Given the description of an element on the screen output the (x, y) to click on. 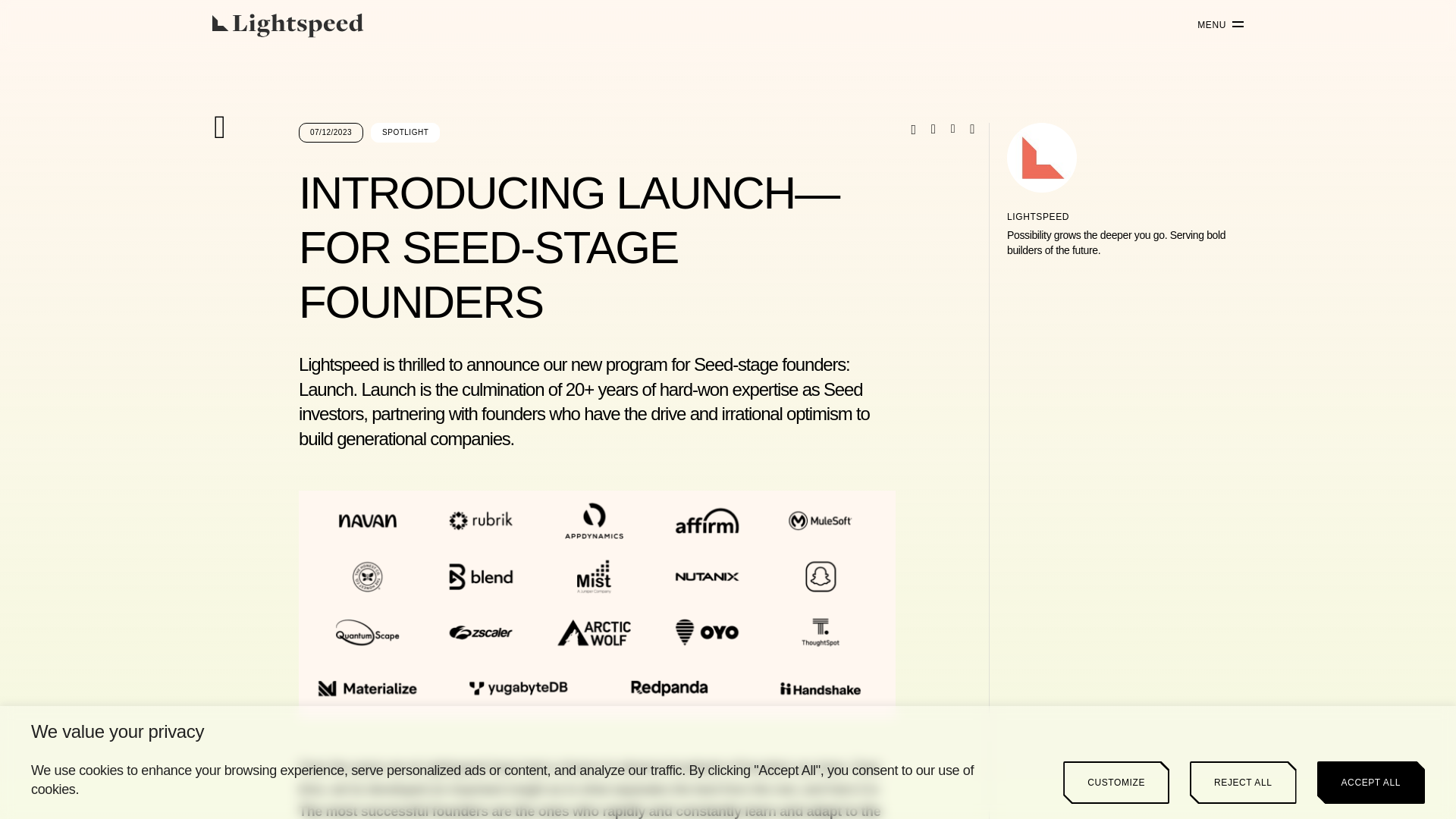
ACCEPT ALL (1371, 782)
REJECT ALL (1242, 782)
MENU (1214, 25)
CUSTOMIZE (1115, 782)
